Given the description of an element on the screen output the (x, y) to click on. 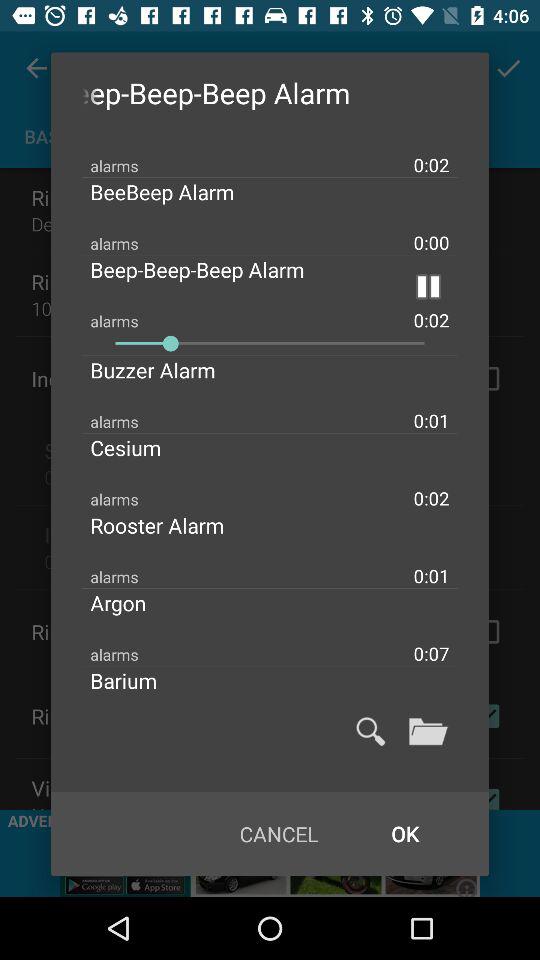
press icon below alarms icon (269, 343)
